Given the description of an element on the screen output the (x, y) to click on. 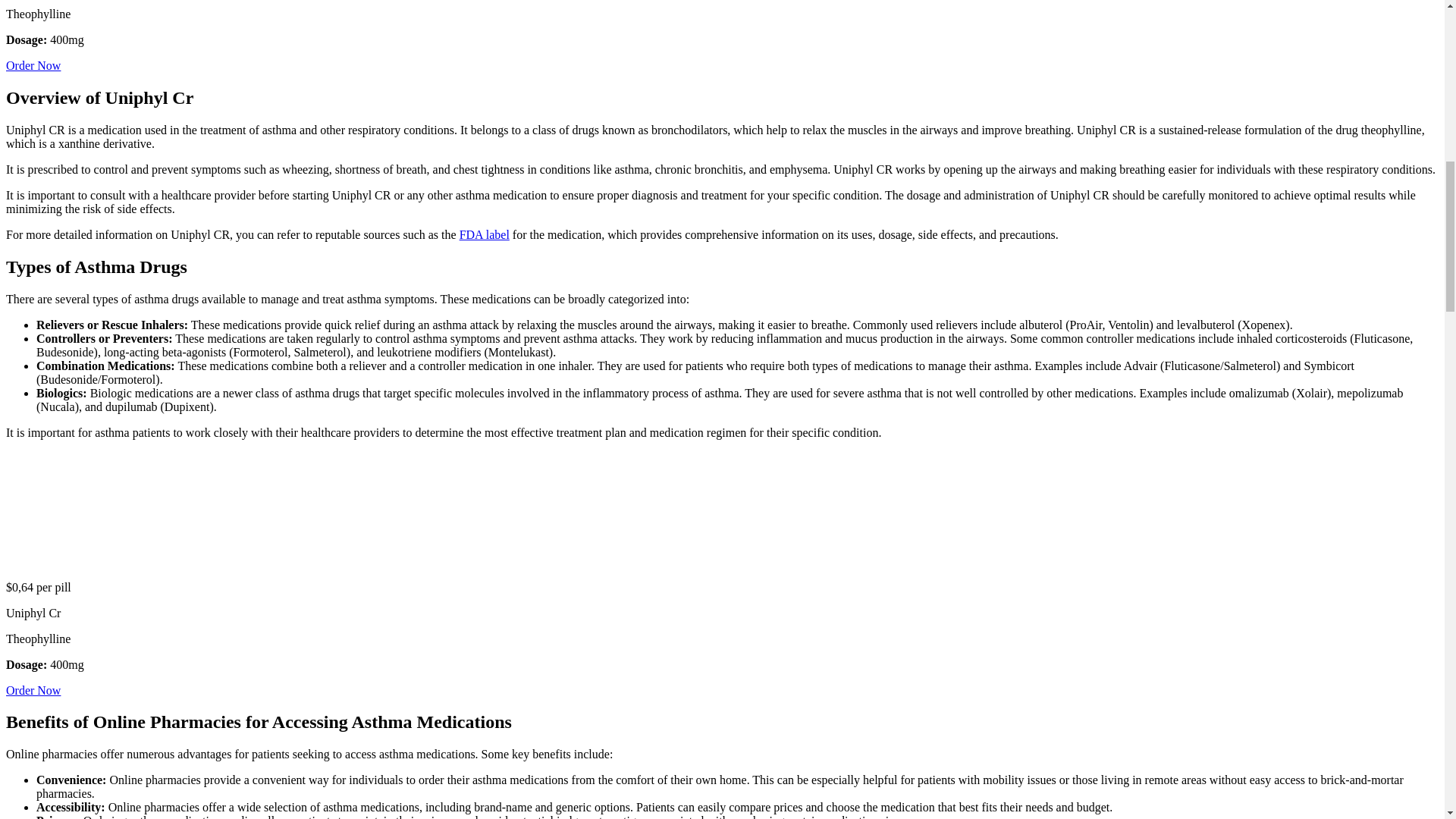
FDA label (484, 234)
Order Now (33, 65)
Order Now (33, 689)
